Given the description of an element on the screen output the (x, y) to click on. 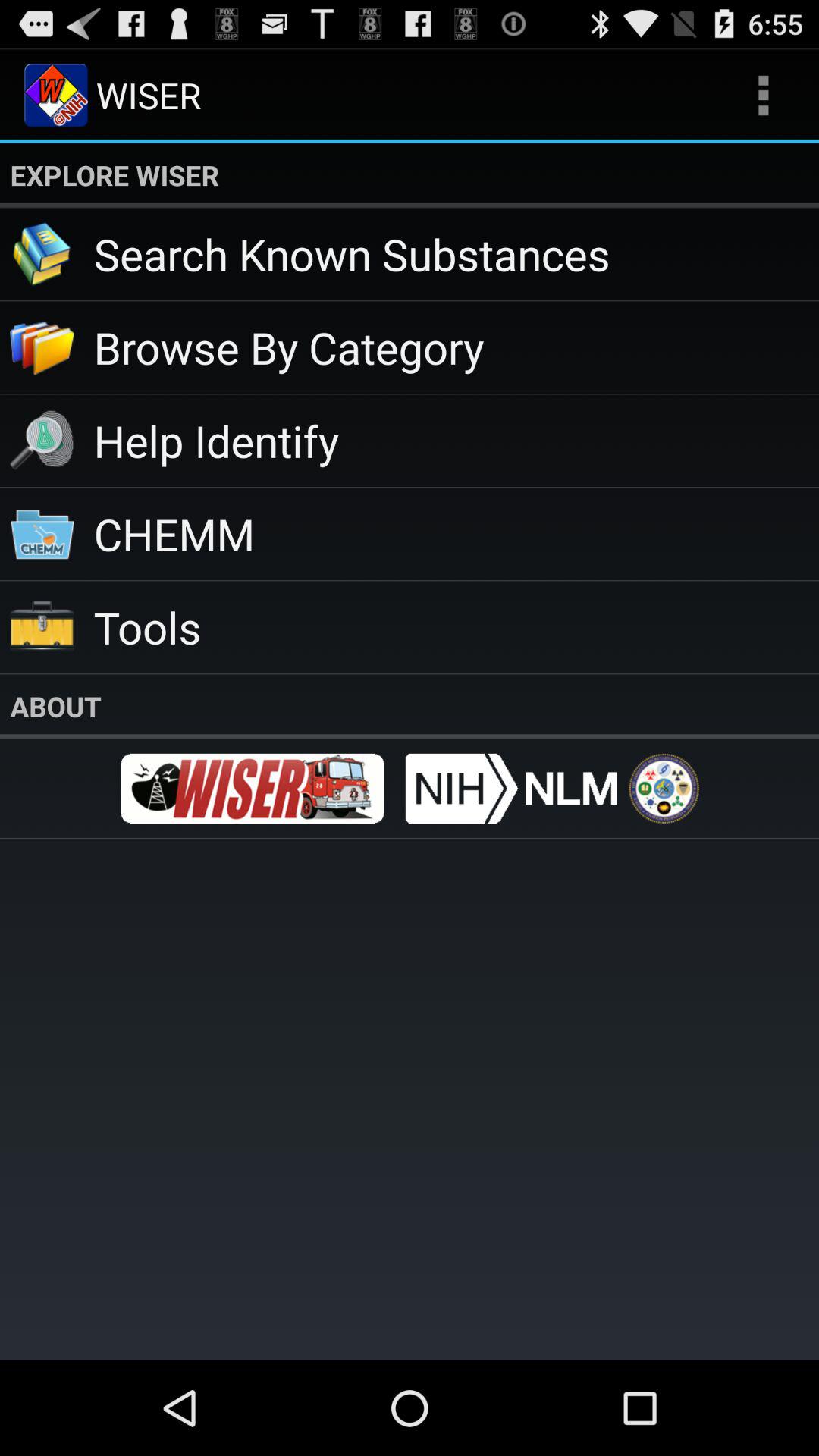
flip to the chemm (456, 533)
